Given the description of an element on the screen output the (x, y) to click on. 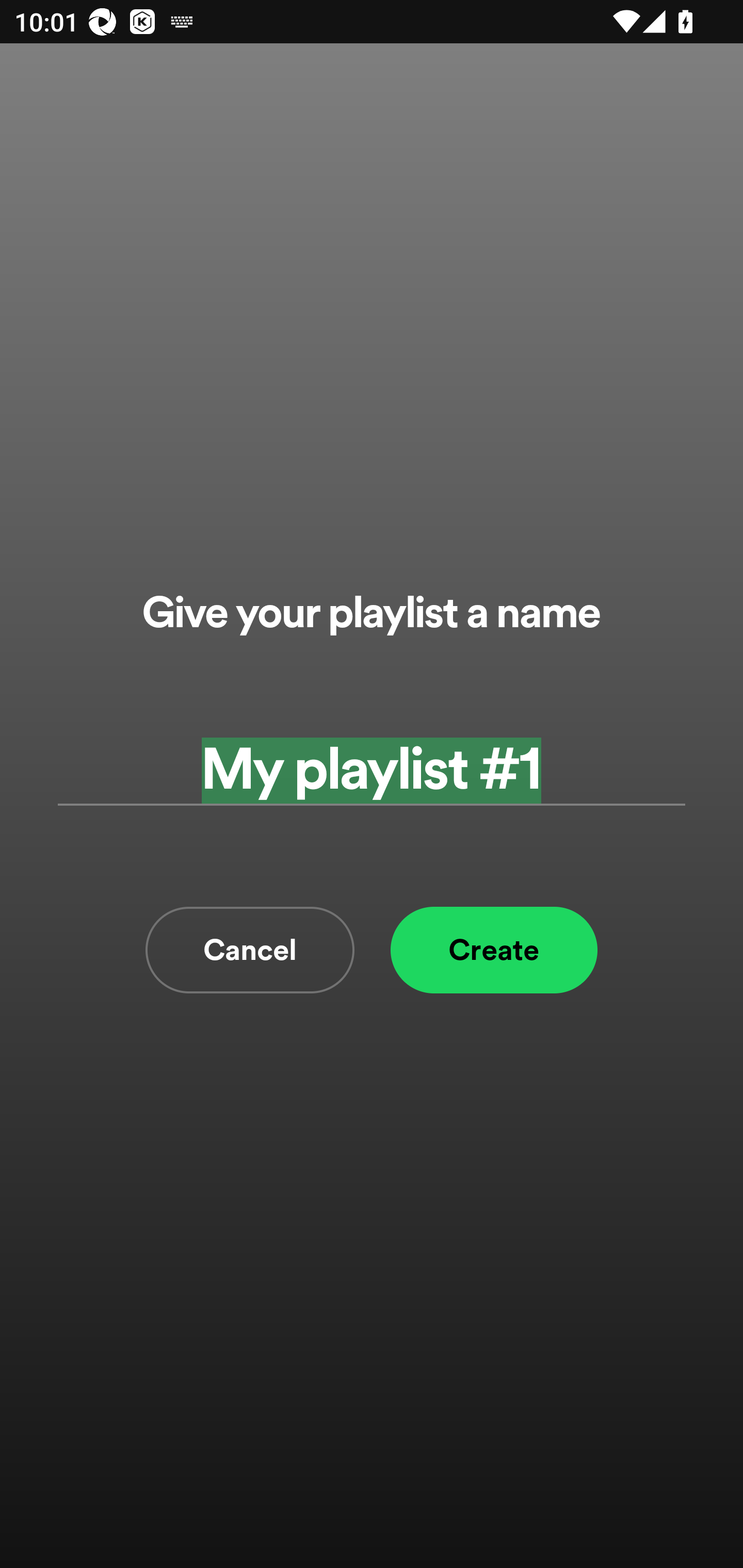
My playlist #1 Add a playlist name (371, 769)
Cancel (249, 950)
Create (493, 950)
